Given the description of an element on the screen output the (x, y) to click on. 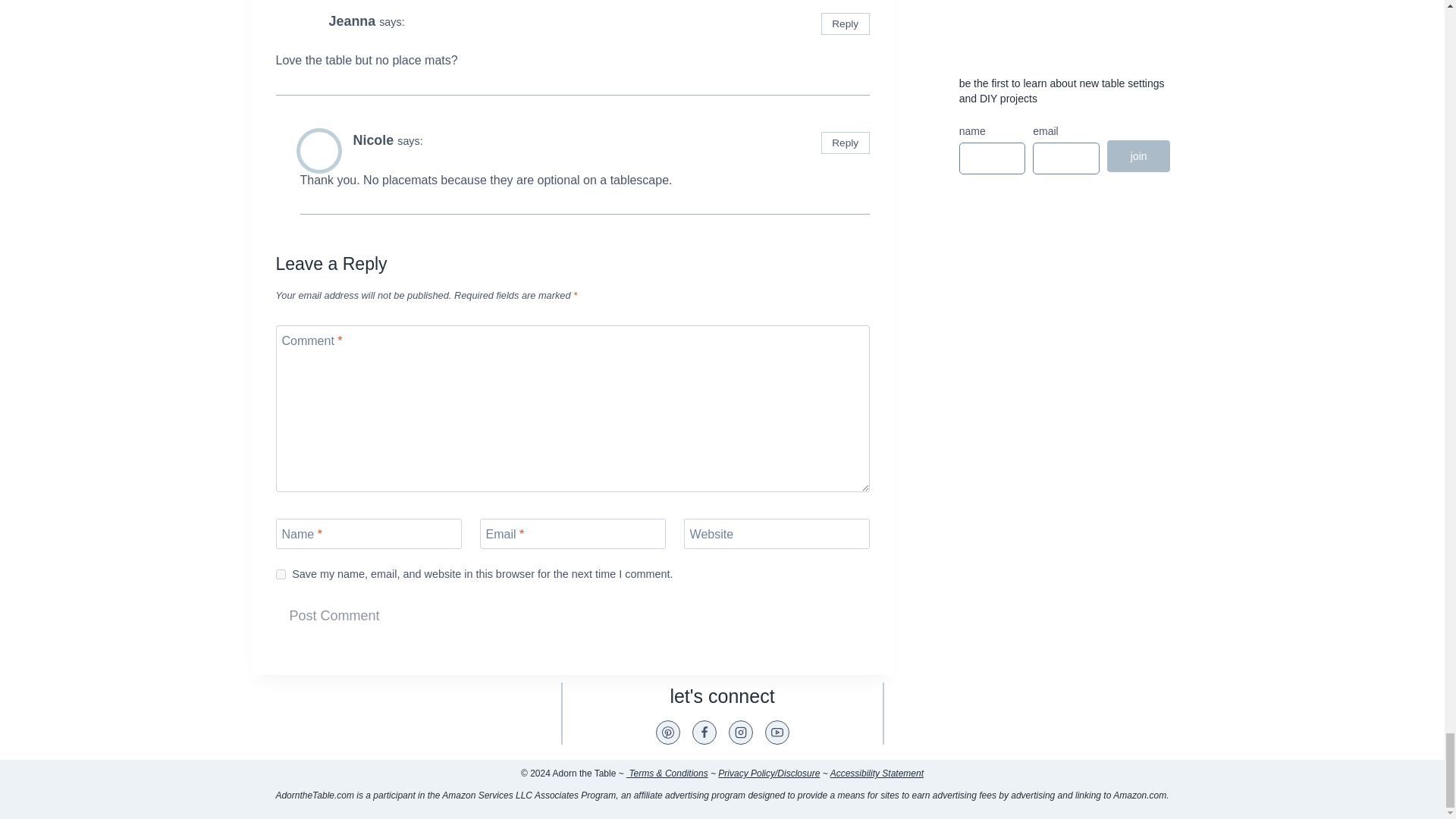
Post Comment (334, 615)
yes (280, 574)
